Given the description of an element on the screen output the (x, y) to click on. 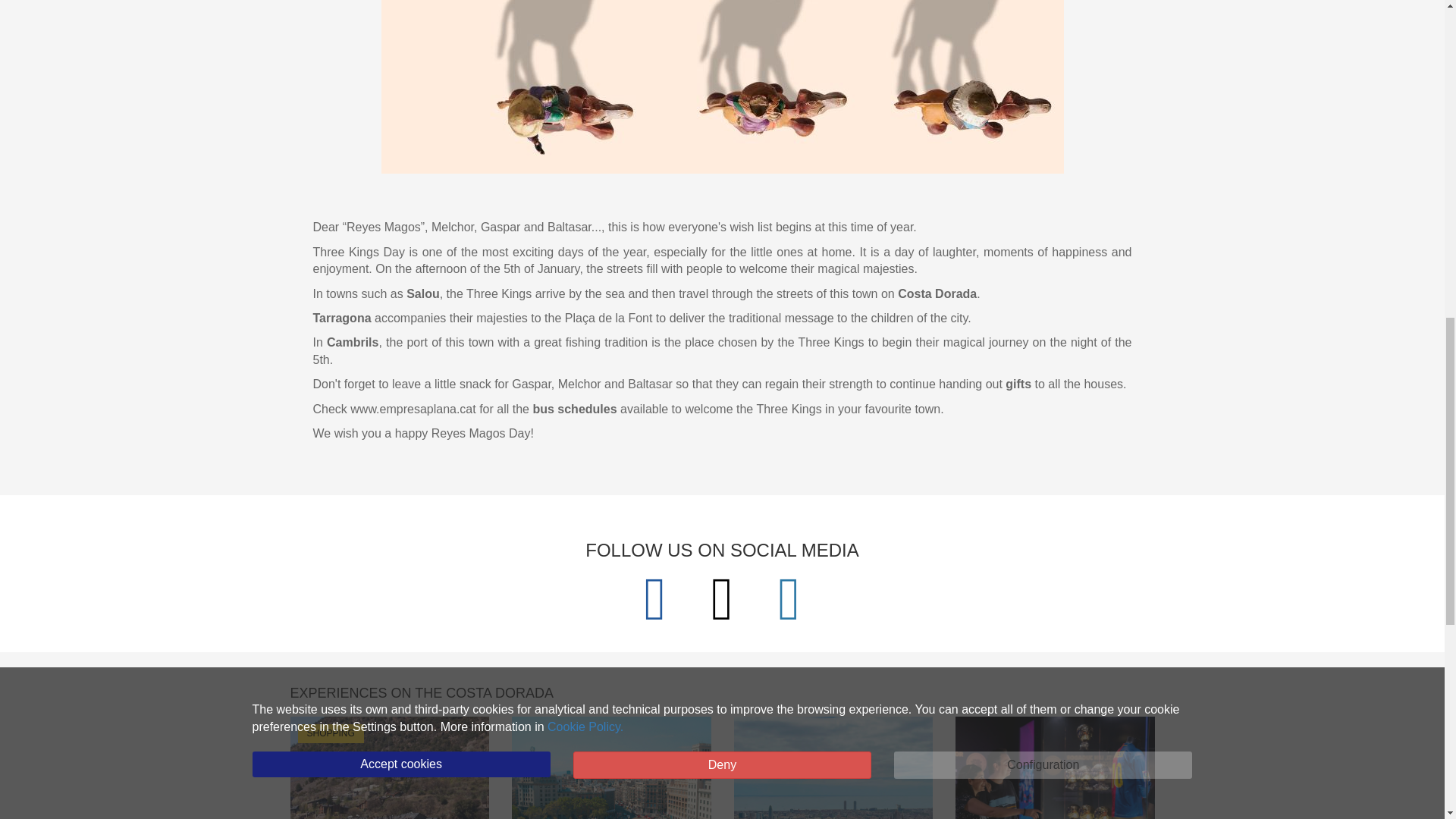
vk (788, 596)
facebook (657, 596)
twitter (724, 596)
Three Kings Day (721, 86)
